Given the description of an element on the screen output the (x, y) to click on. 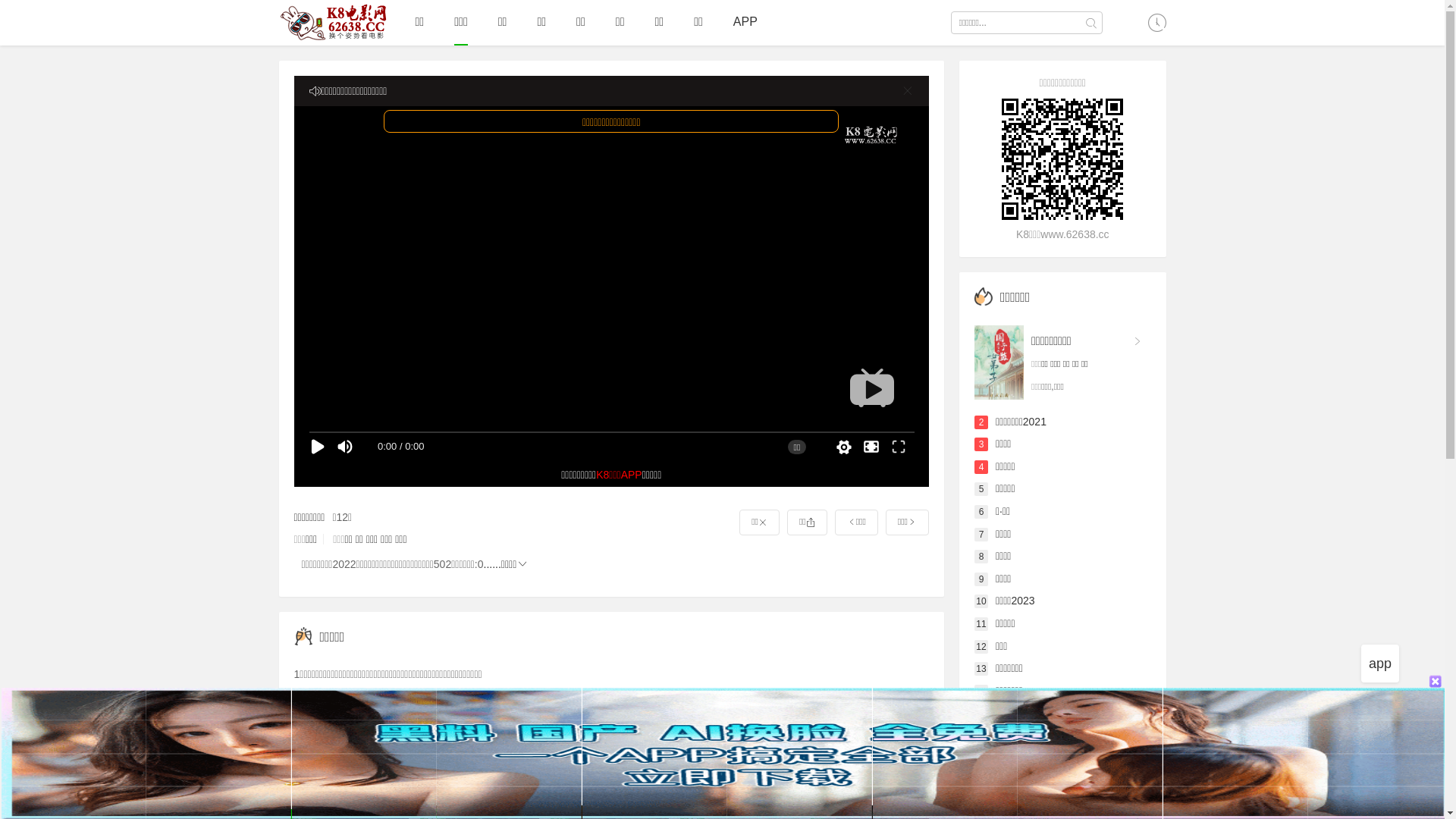
APP Element type: text (745, 21)
app Element type: text (1380, 663)
www.62638.cc Element type: text (357, 712)
